Given the description of an element on the screen output the (x, y) to click on. 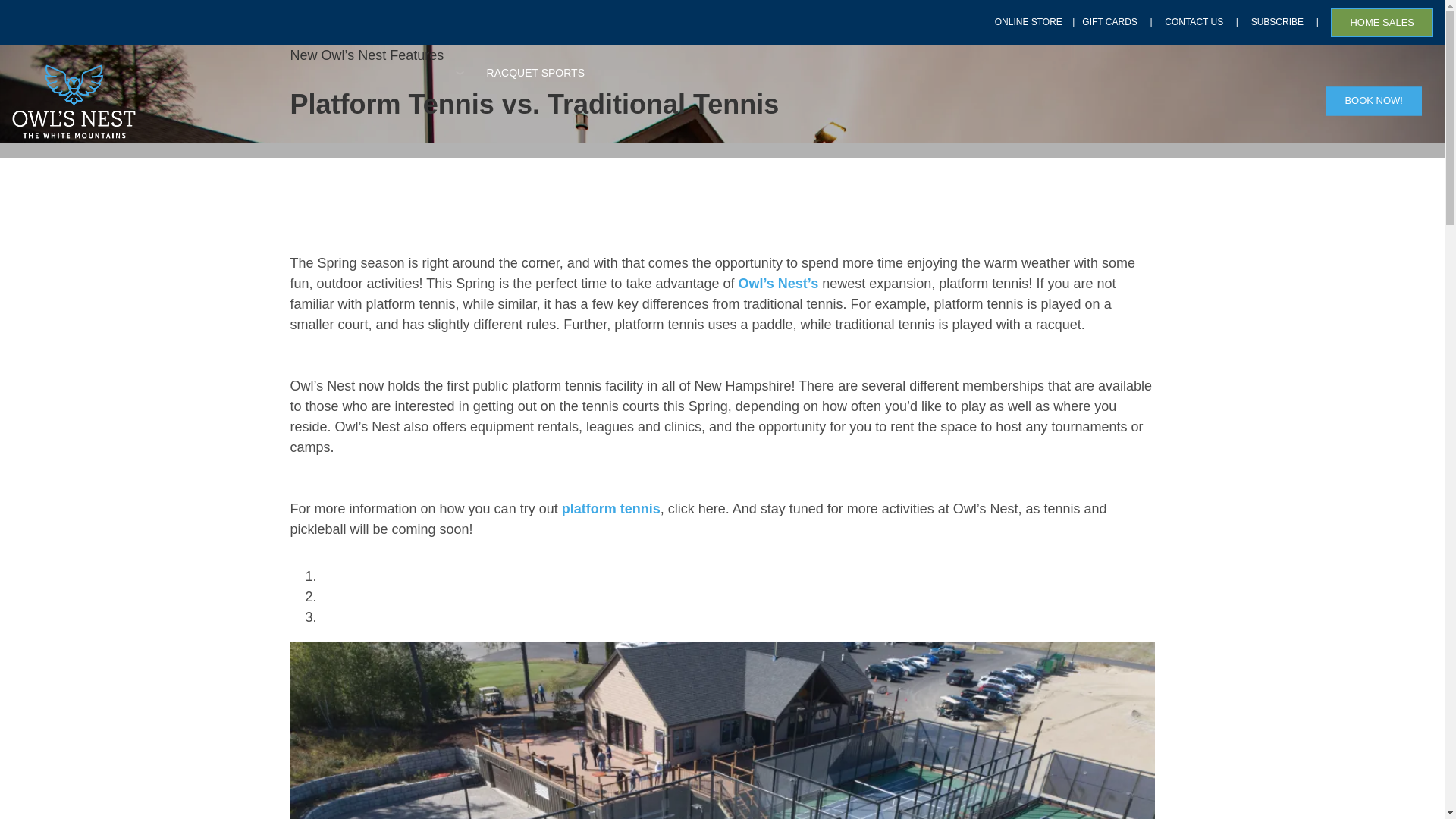
ONLINE STORE (1028, 21)
CONTACT US (1193, 21)
HOME SALES (1381, 22)
SUBSCRIBE (1276, 21)
GIFT CARDS (1109, 21)
